Given the description of an element on the screen output the (x, y) to click on. 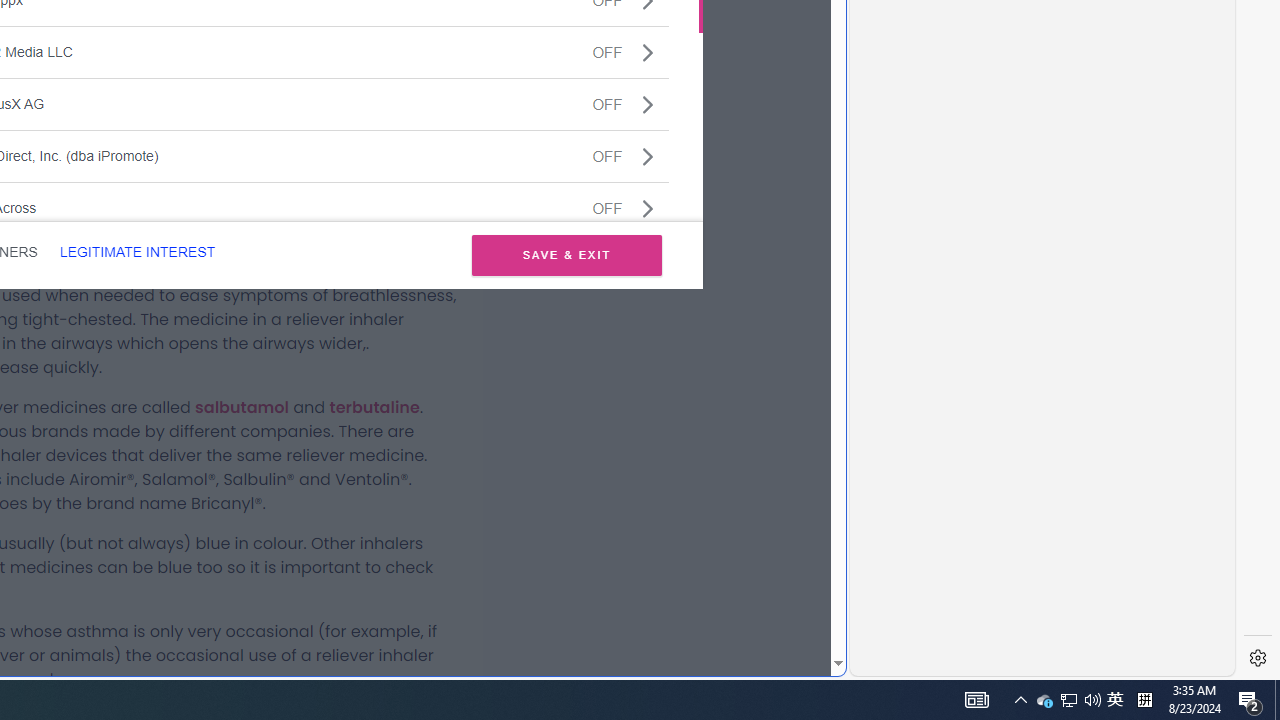
SAVE & EXIT (566, 254)
terbutaline (373, 407)
LEGITIMATE INTEREST (137, 251)
salbutamol (241, 407)
Class: css-jswnc6 (648, 208)
